Given the description of an element on the screen output the (x, y) to click on. 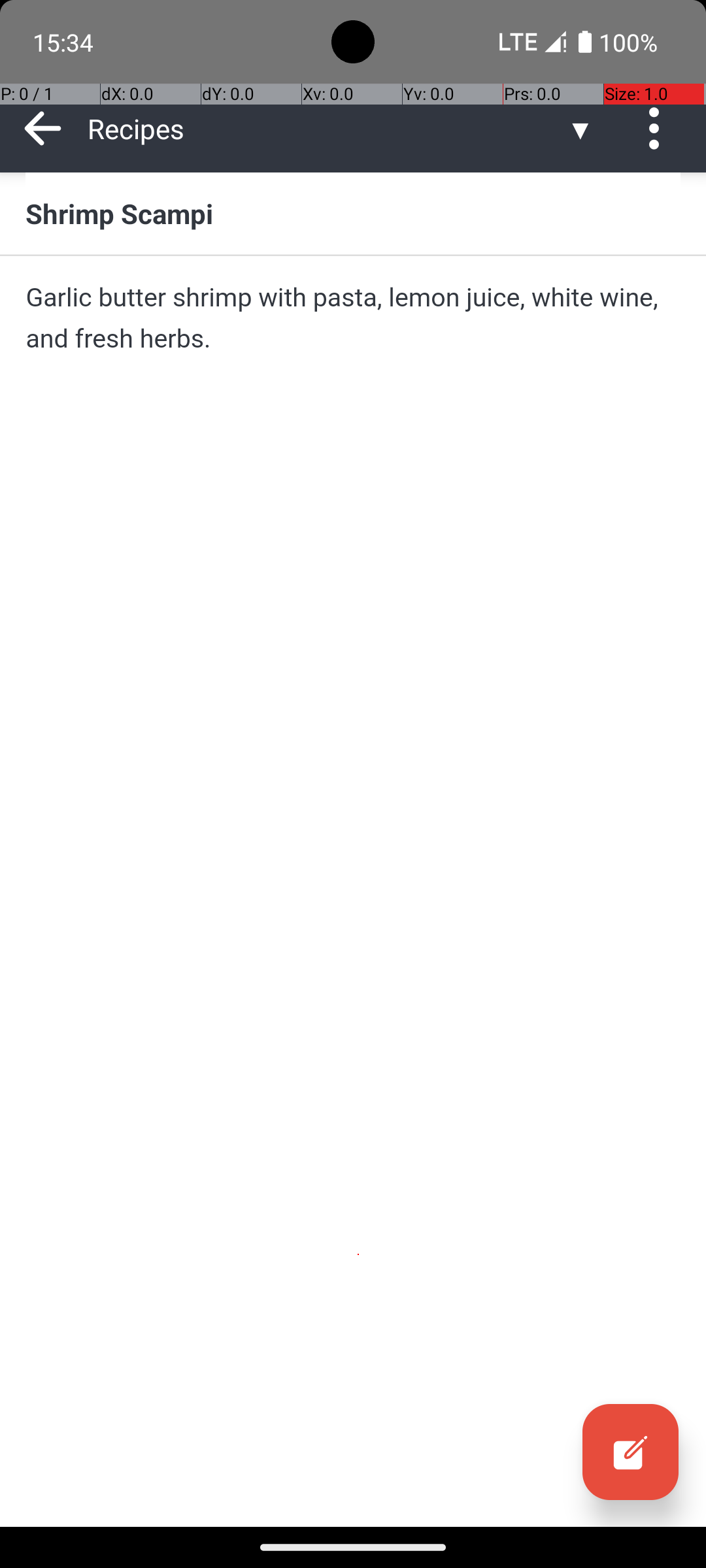
Shrimp Scampi Element type: android.widget.EditText (352, 213)
Garlic butter shrimp with pasta, lemon juice, white wine, and fresh herbs. Element type: android.widget.TextView (352, 317)
